Given the description of an element on the screen output the (x, y) to click on. 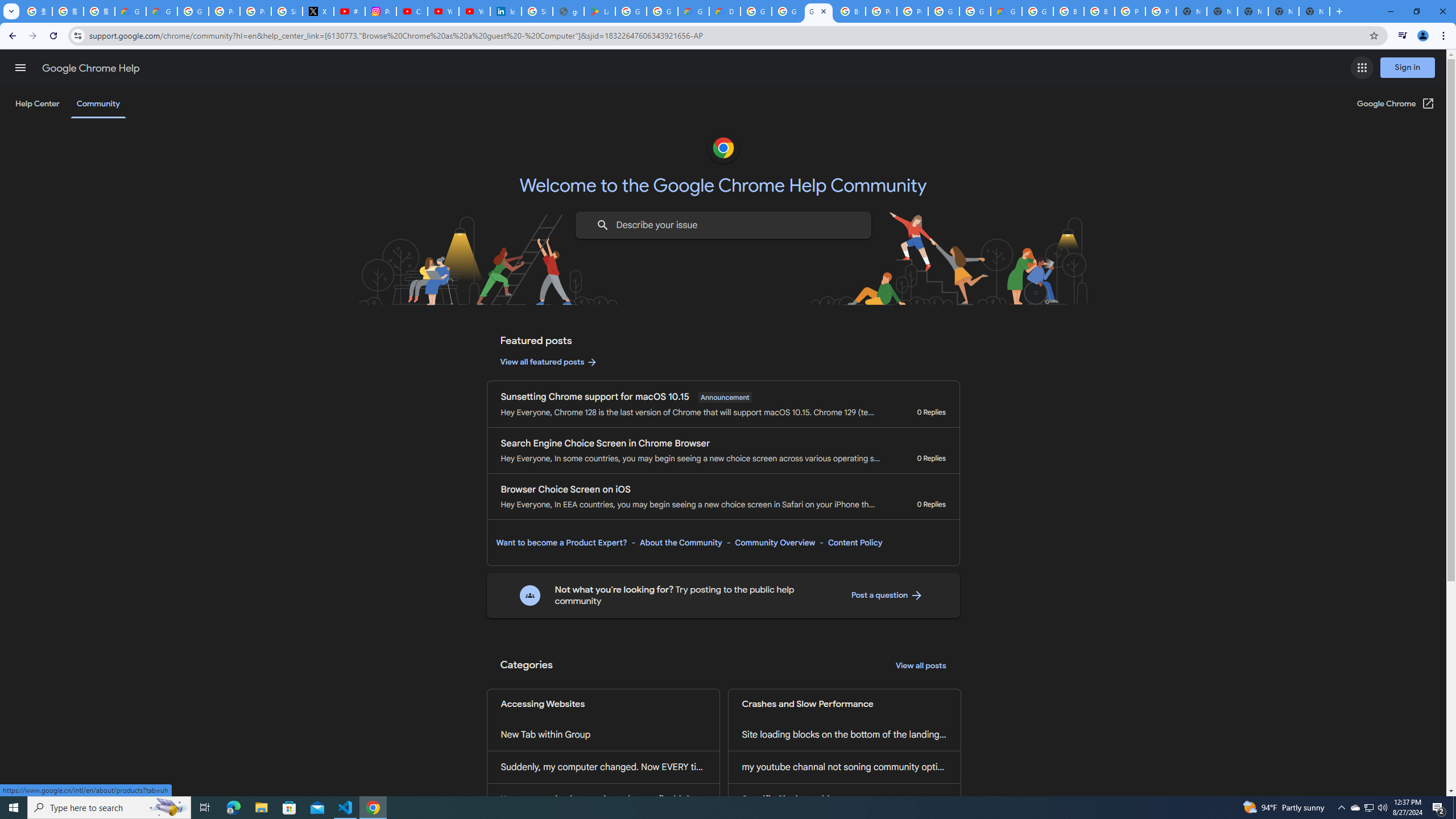
Sign in - Google Accounts (286, 11)
Browse Chrome as a guest - Computer - Google Chrome Help (849, 11)
Sign in - Google Accounts (536, 11)
Google Workspace - Specific Terms (662, 11)
View all posts (920, 665)
Post a question  (886, 595)
